Given the description of an element on the screen output the (x, y) to click on. 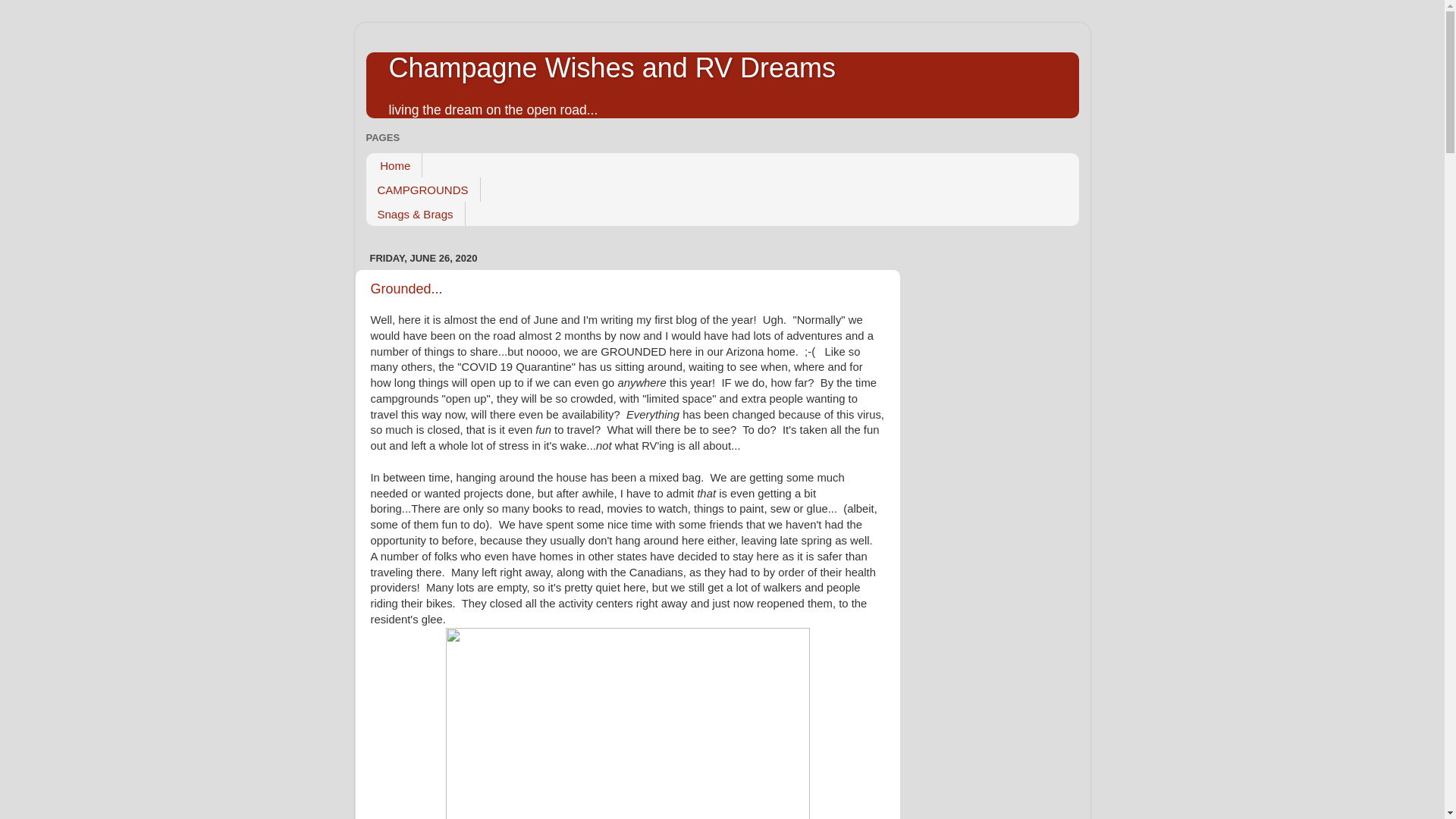
Home (393, 165)
Champagne Wishes and RV Dreams (611, 67)
Grounded... (405, 288)
CAMPGROUNDS (422, 189)
